Given the description of an element on the screen output the (x, y) to click on. 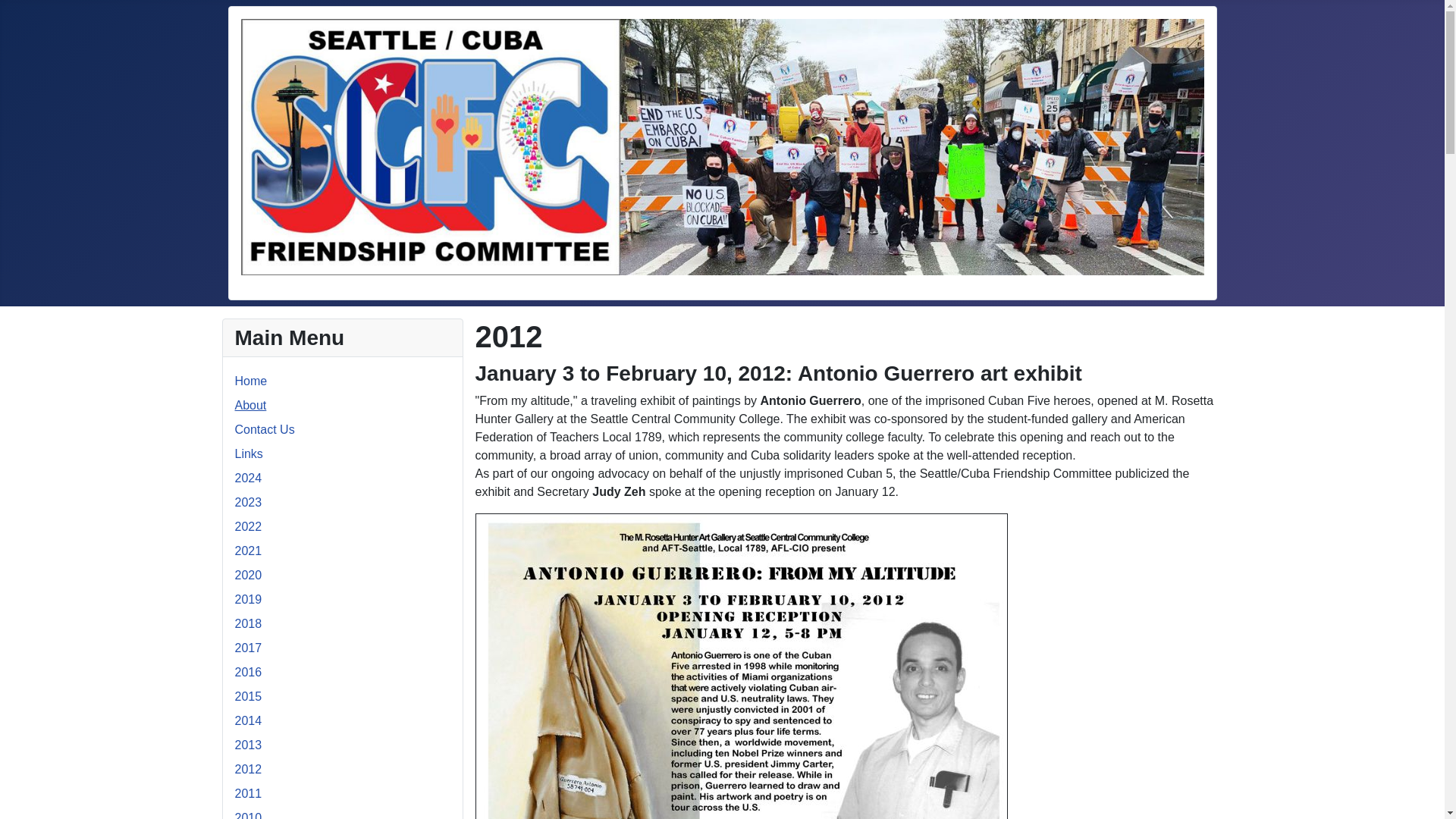
2021 (248, 550)
2012 (248, 768)
2023 (248, 502)
2019 (248, 599)
Contact Us (264, 429)
2015 (248, 696)
2016 (248, 671)
2022 (248, 526)
2010 (248, 815)
2014 (248, 720)
